Given the description of an element on the screen output the (x, y) to click on. 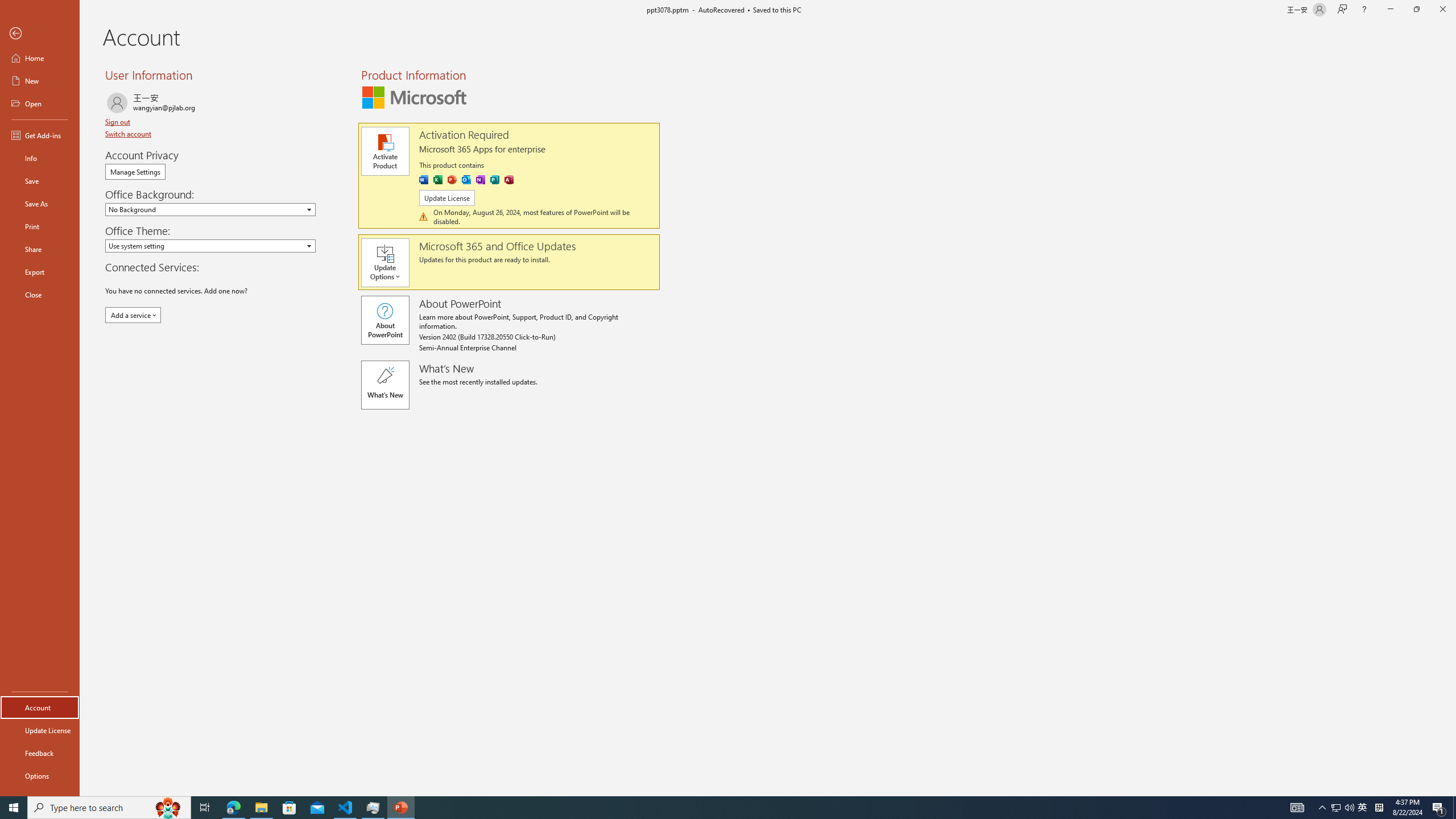
Text Highlight Color Yellow (282, 102)
Can't Repeat (193, 18)
Class: NetUIScrollBar (1448, 450)
Zoom 90% (1440, 773)
Multilevel List (483, 77)
